Given the description of an element on the screen output the (x, y) to click on. 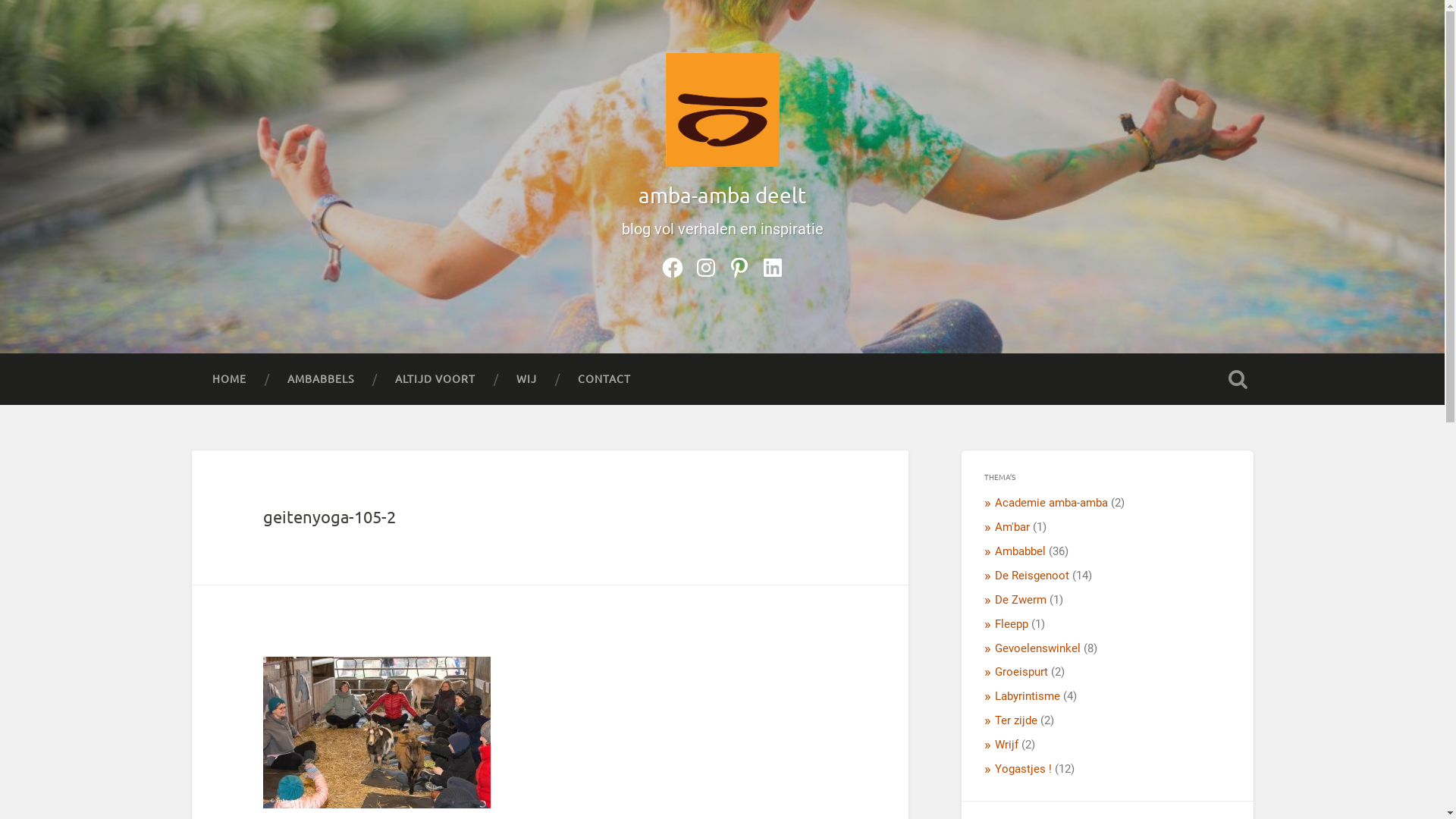
De Reisgenoot Element type: text (1031, 575)
Am'bar Element type: text (1011, 526)
Instagram Element type: text (705, 265)
Academie amba-amba Element type: text (1050, 502)
Labyrintisme Element type: text (1027, 695)
geitenyoga-105-2 Element type: text (329, 516)
Yogastjes ! Element type: text (1022, 768)
CONTACT Element type: text (603, 378)
ALTIJD VOORT Element type: text (434, 378)
Ter zijde Element type: text (1015, 720)
Facebook Element type: text (671, 265)
Ambabbel Element type: text (1019, 551)
LinkedIn Element type: text (771, 265)
Wrijf Element type: text (1006, 744)
HOME Element type: text (228, 378)
Groeispurt Element type: text (1021, 671)
Gevoelenswinkel Element type: text (1037, 648)
Fleepp Element type: text (1011, 623)
De Zwerm Element type: text (1020, 599)
Zoeken openen Element type: text (1237, 378)
Pinterest Element type: text (738, 265)
WIJ Element type: text (526, 378)
amba-amba deelt Element type: text (722, 194)
AMBABBELS Element type: text (320, 378)
